Given the description of an element on the screen output the (x, y) to click on. 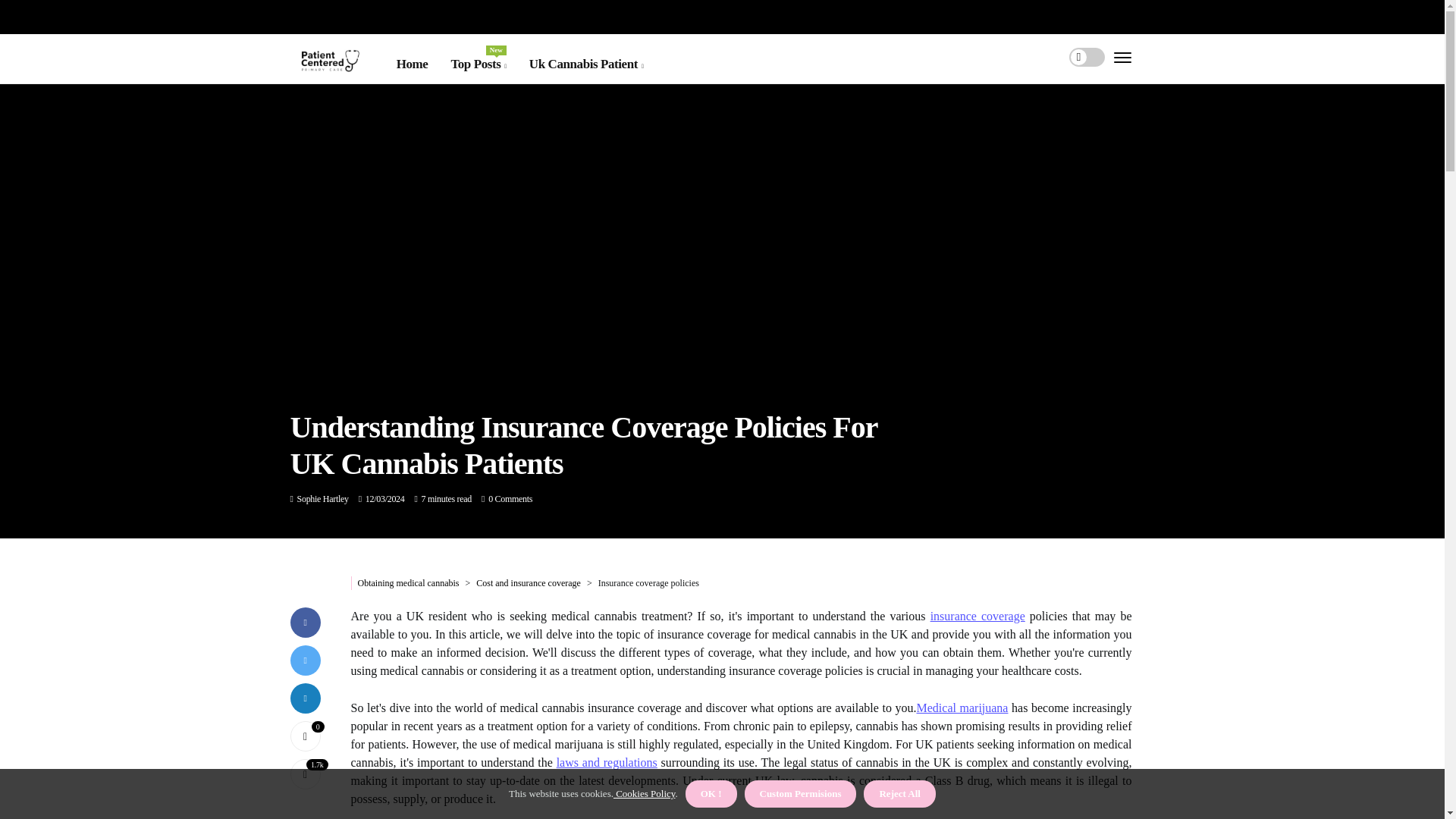
Posts by Sophie Hartley (477, 64)
Uk Cannabis Patient (323, 498)
Like (586, 64)
